Given the description of an element on the screen output the (x, y) to click on. 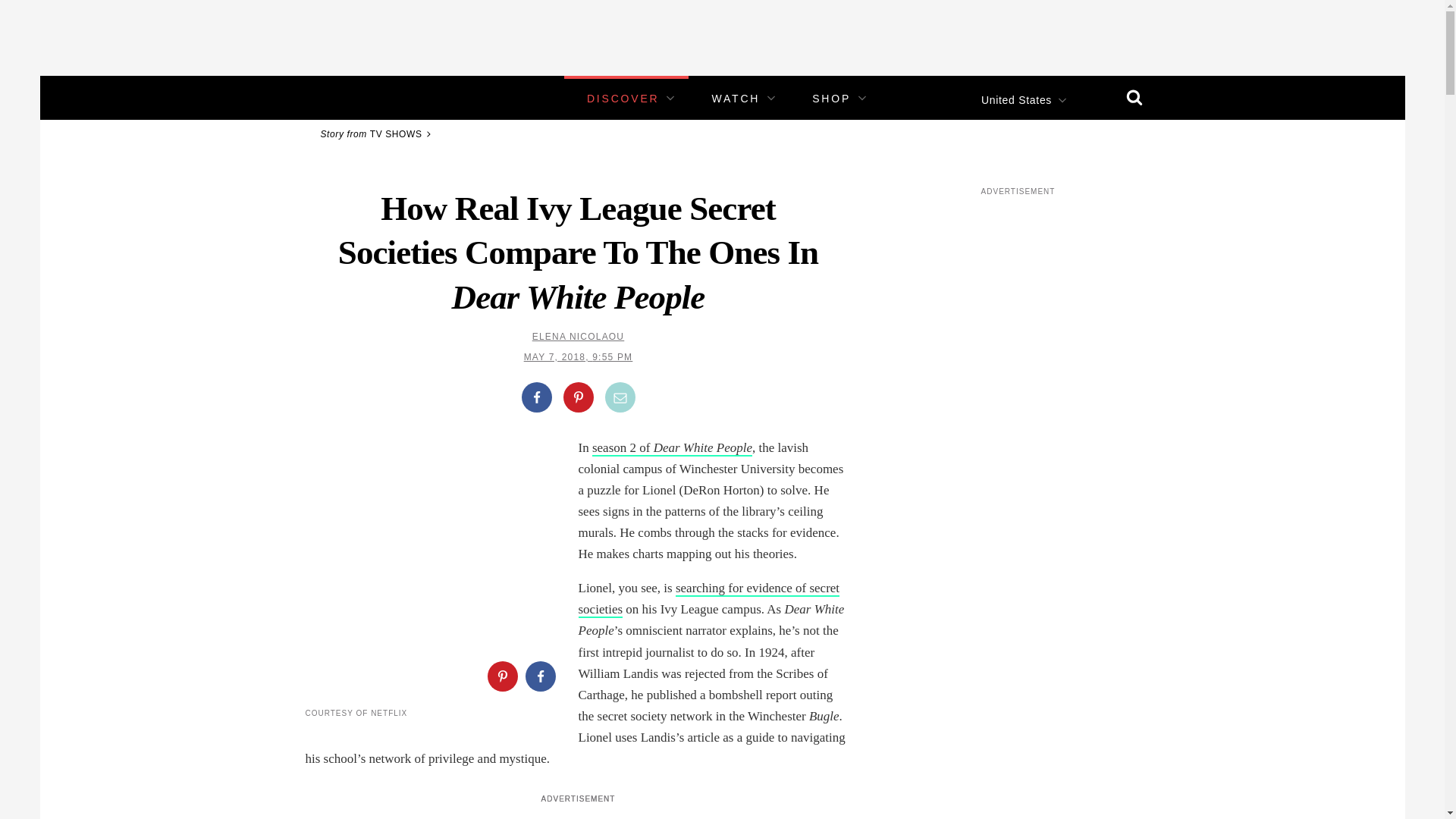
Share on Pinterest (577, 397)
DISCOVER (622, 98)
season 2 of Dear White People (672, 448)
Share on Pinterest (501, 675)
Story from TV SHOWS (377, 133)
Share by Email (619, 397)
ELENA NICOLAOU (578, 336)
MAY 7, 2018, 9:55 PM (578, 357)
SHOP (831, 98)
Refinery29 (352, 97)
